Given the description of an element on the screen output the (x, y) to click on. 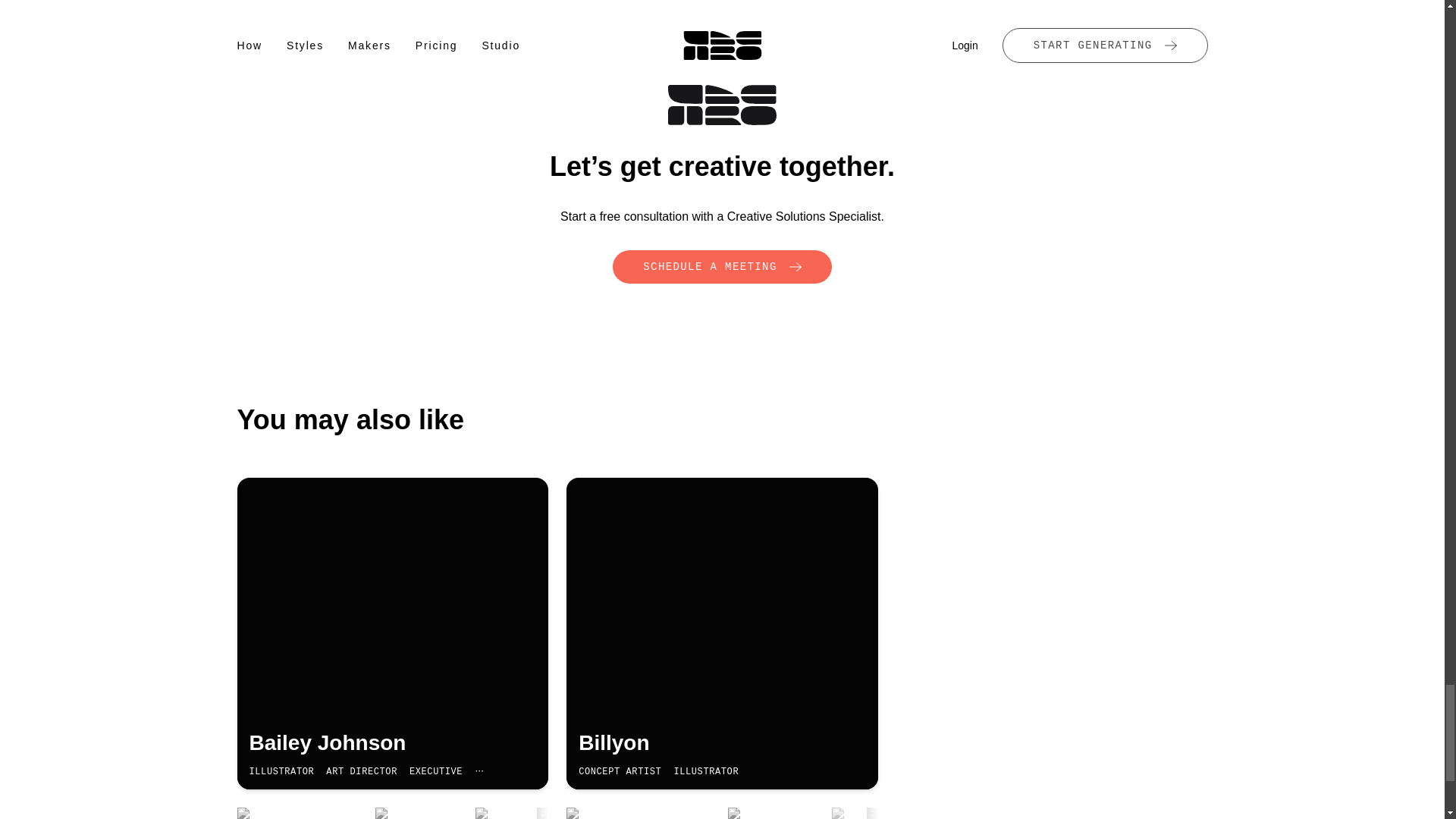
Billyon (722, 743)
SCHEDULE A MEETING (721, 266)
Bailey Johnson (391, 743)
